Given the description of an element on the screen output the (x, y) to click on. 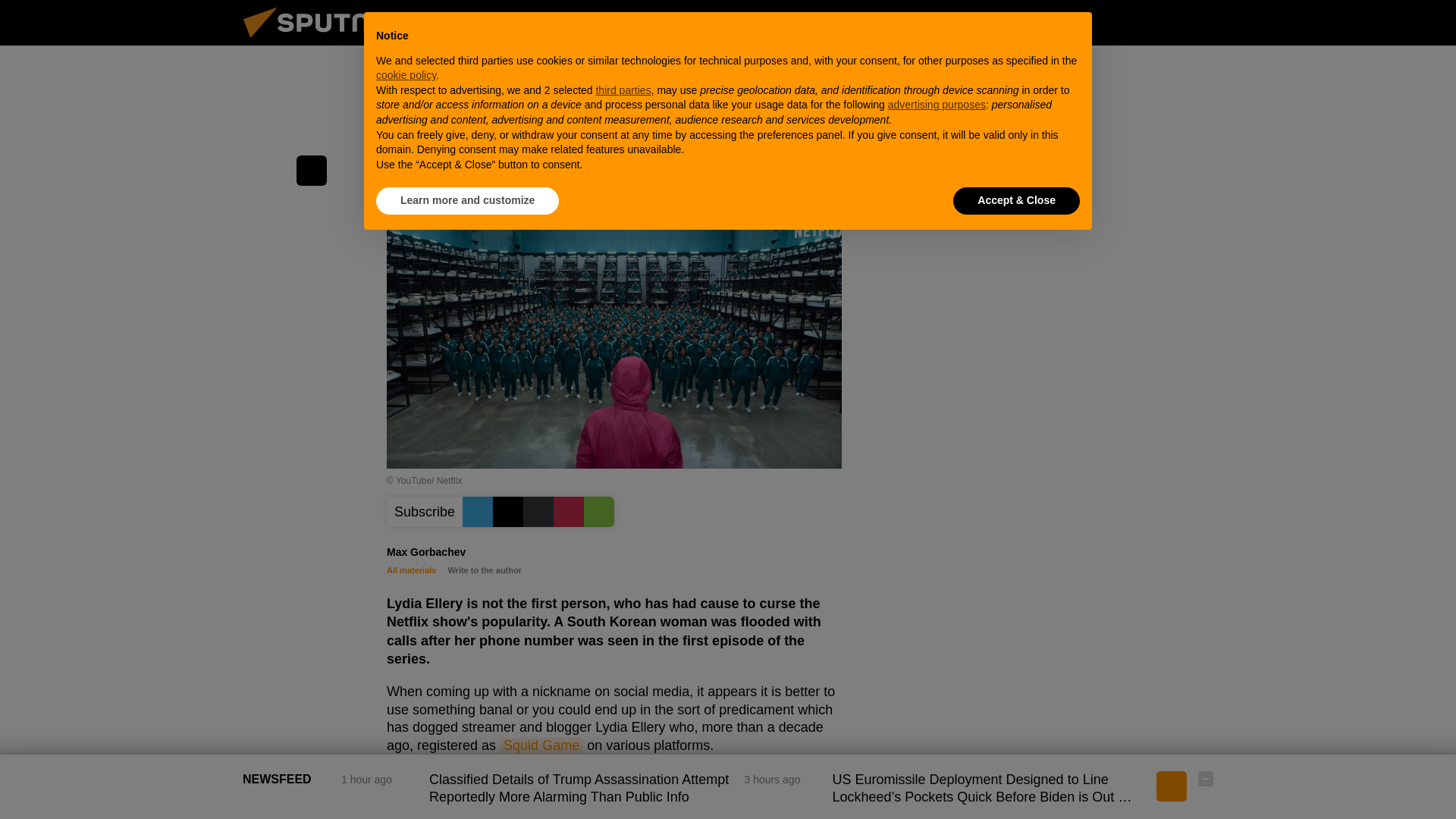
Authorization (1129, 22)
Sputnik International (325, 41)
Chats (1206, 22)
